Given the description of an element on the screen output the (x, y) to click on. 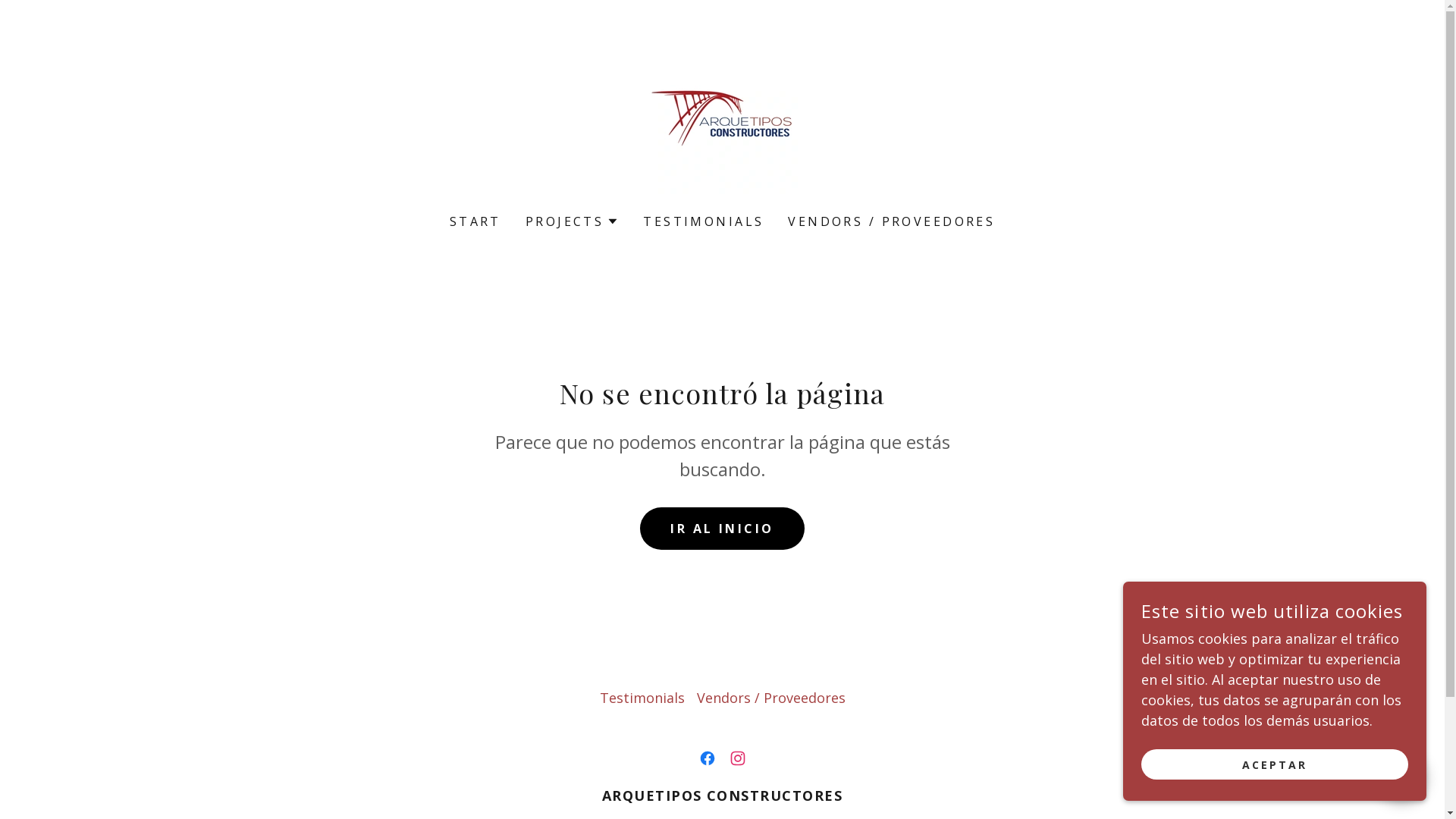
Arquetipos Constructores Element type: hover (721, 116)
IR AL INICIO Element type: text (721, 527)
TESTIMONIALS Element type: text (703, 221)
PROJECTS Element type: text (571, 221)
ACEPTAR Element type: text (1274, 764)
Vendors / Proveedores Element type: text (770, 697)
VENDORS / PROVEEDORES Element type: text (891, 221)
Testimonials Element type: text (641, 697)
START Element type: text (475, 221)
